Given the description of an element on the screen output the (x, y) to click on. 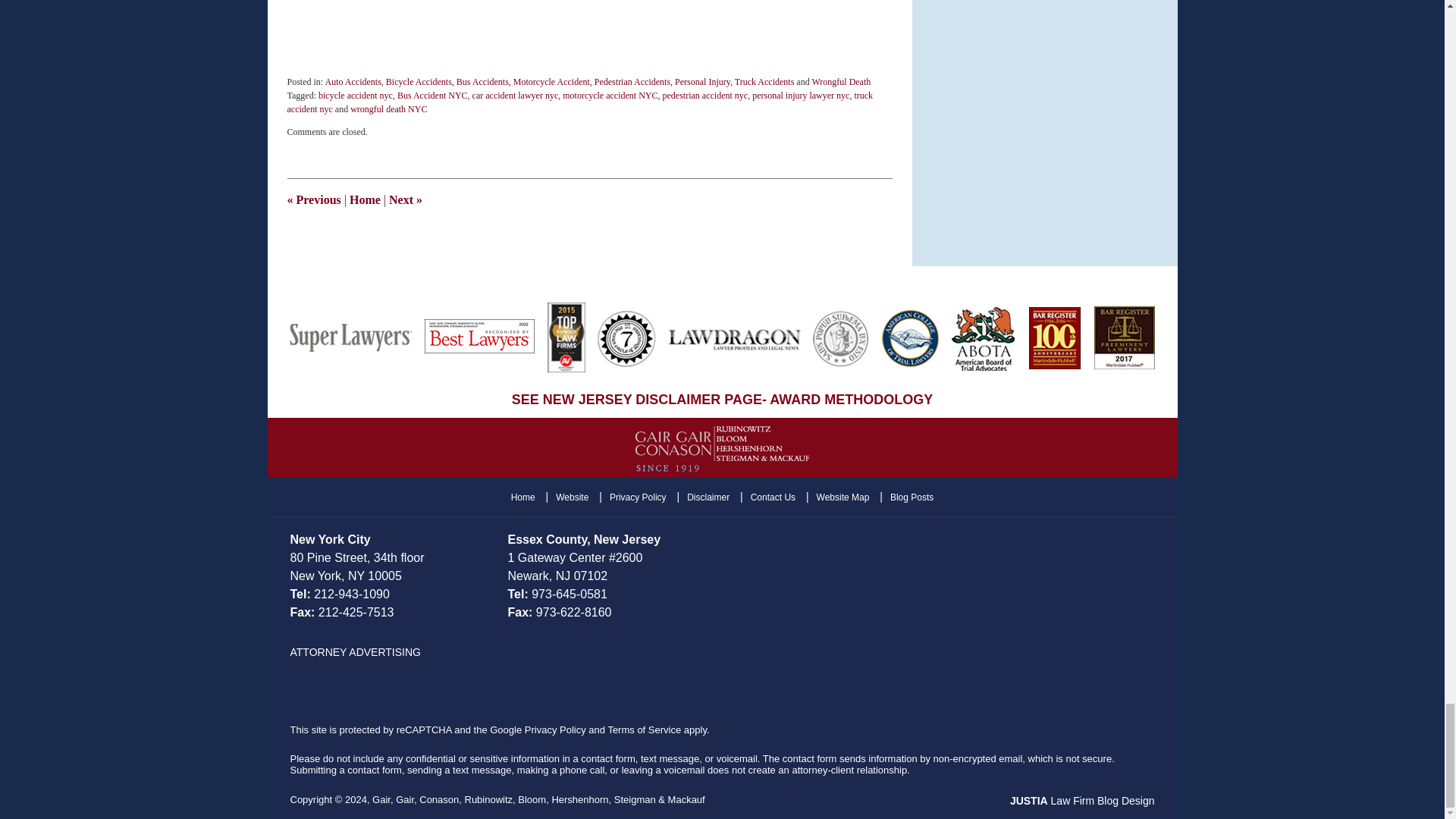
View all posts in Personal Injury (702, 81)
View all posts in Wrongful Death (840, 81)
View all posts tagged with truck accident nyc (579, 102)
View all posts in Pedestrian Accidents (631, 81)
View all posts tagged with pedestrian accident nyc (705, 95)
View all posts tagged with Bus Accident NYC (432, 95)
View all posts in Auto Accidents (352, 81)
View all posts tagged with wrongful death NYC (388, 109)
View all posts in Truck Accidents (764, 81)
View all posts in Motorcycle Accident (551, 81)
View all posts tagged with car accident lawyer nyc (515, 95)
View all posts tagged with bicycle accident nyc (355, 95)
View all posts in Bicycle Accidents (418, 81)
View all posts tagged with motorcycle accident NYC (610, 95)
